Given the description of an element on the screen output the (x, y) to click on. 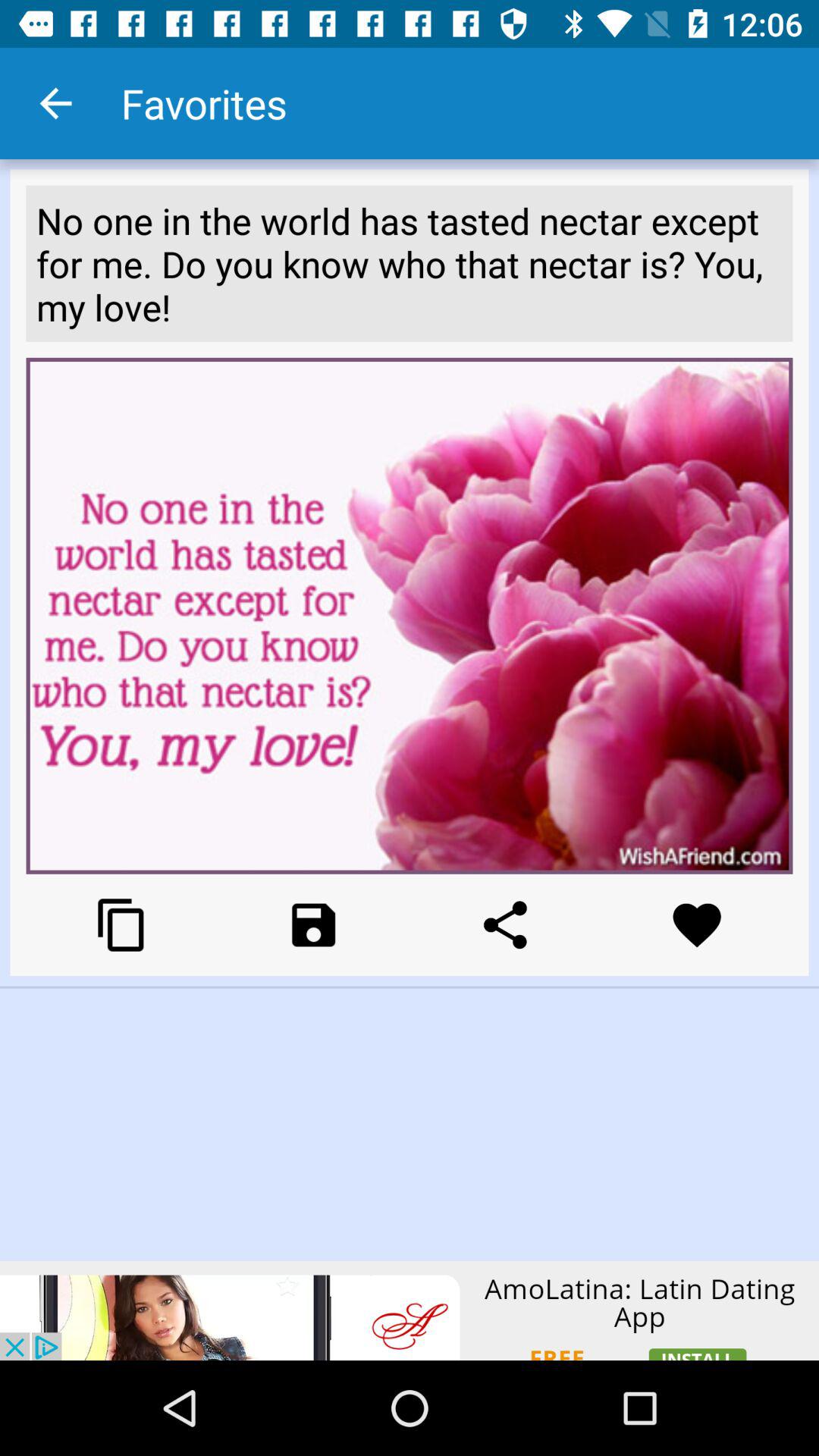
save image icon (313, 925)
